Given the description of an element on the screen output the (x, y) to click on. 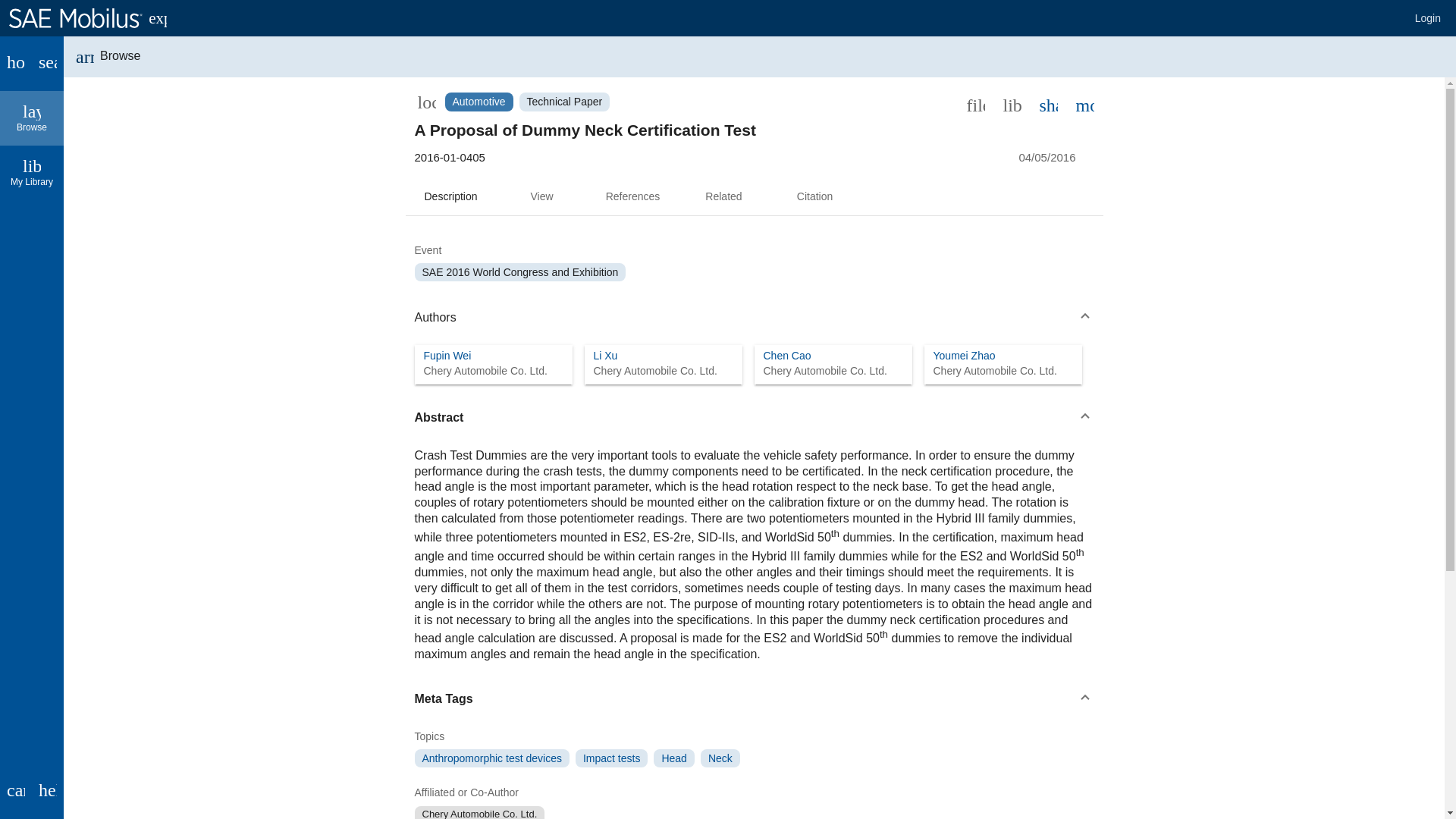
Youmei Zhao (963, 355)
Chery Automobile Co. Ltd. (485, 370)
Chery Automobile Co. Ltd. (654, 370)
References (632, 197)
Impact tests (611, 758)
Li Xu (604, 355)
Chen Cao (786, 355)
Neck (719, 758)
share (1047, 104)
Citation (814, 197)
Chery Automobile Co. Ltd. (824, 370)
View (541, 197)
Related (32, 117)
Chery Automobile Co. Ltd. (723, 197)
